Given the description of an element on the screen output the (x, y) to click on. 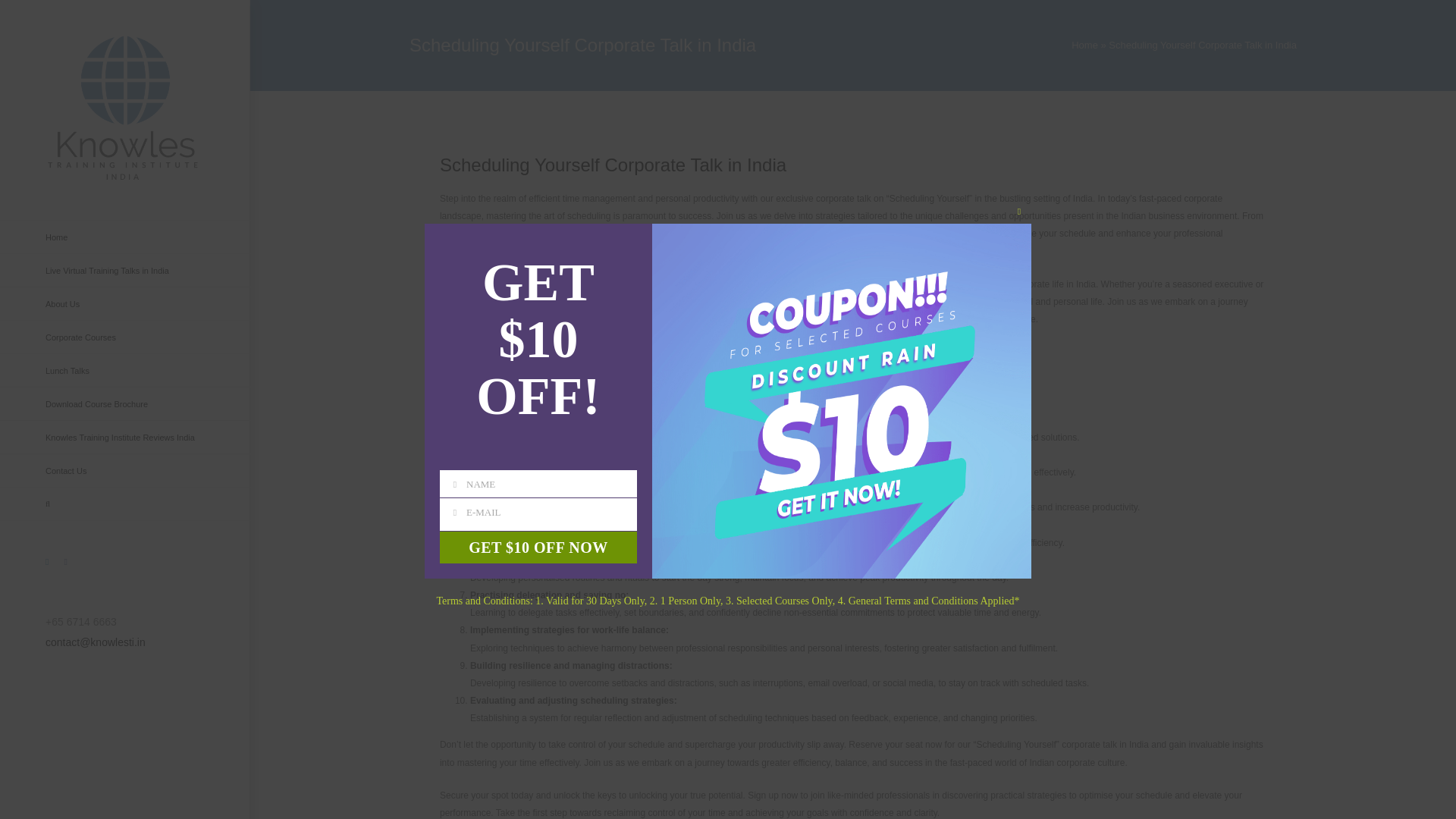
Home (1084, 44)
About Us (125, 304)
Knowles Training Institute Reviews India (125, 437)
Lunch Talks (125, 370)
Home (125, 236)
Corporate Courses (125, 337)
Search (125, 503)
Download Course Brochure (125, 403)
Live Virtual Training Talks in India (125, 270)
Contact Us (125, 470)
